Given the description of an element on the screen output the (x, y) to click on. 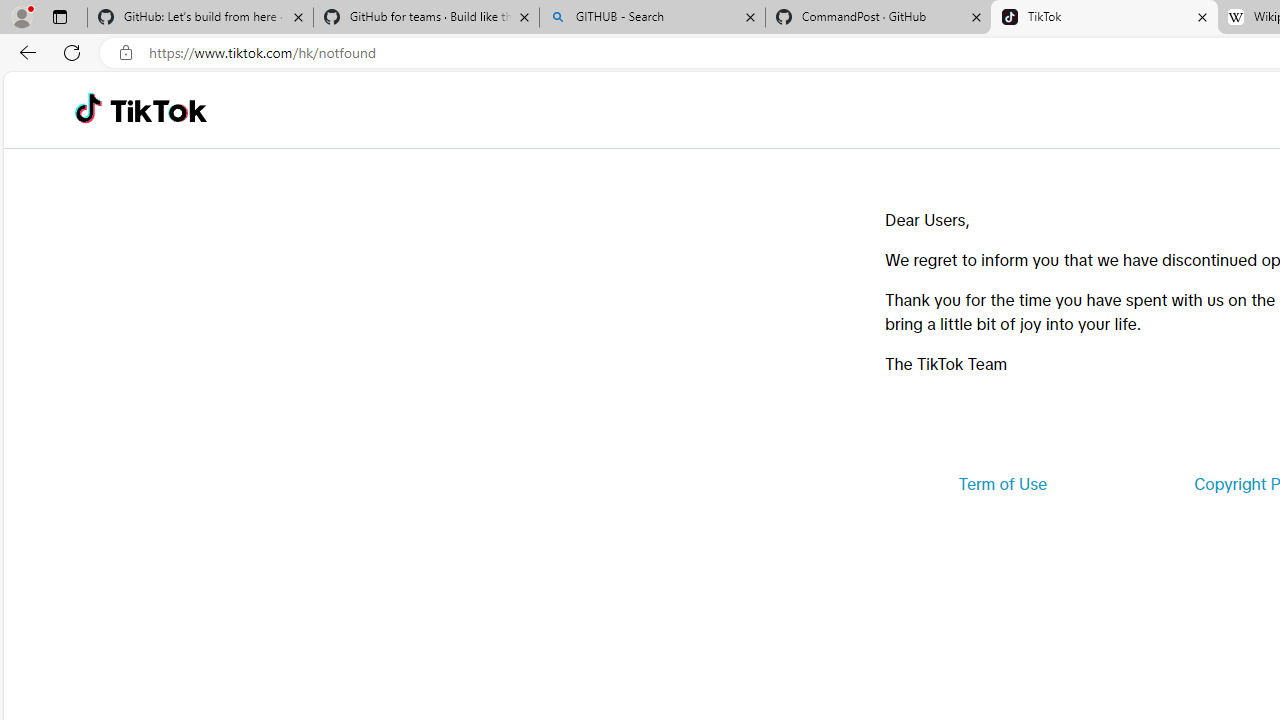
Term of Use (1002, 484)
GITHUB - Search (652, 17)
